Given the description of an element on the screen output the (x, y) to click on. 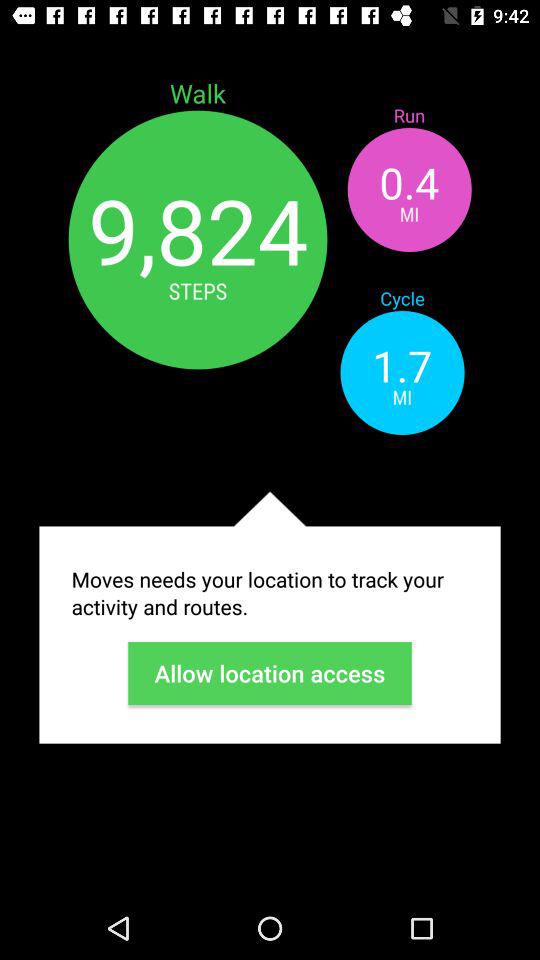
open the item below mi app (269, 593)
